Given the description of an element on the screen output the (x, y) to click on. 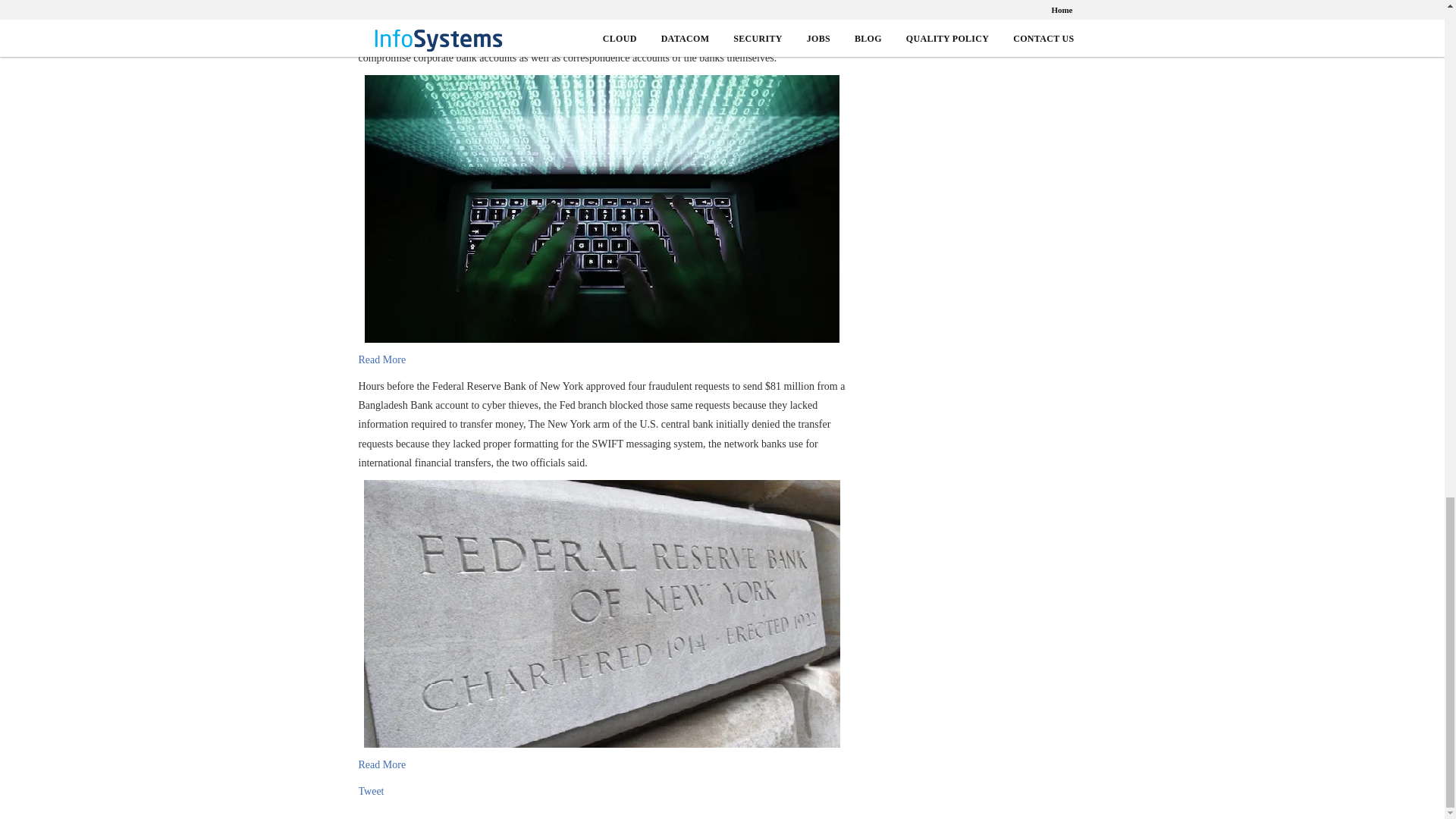
Read More (382, 764)
Tweet (371, 791)
Read More (382, 359)
